Given the description of an element on the screen output the (x, y) to click on. 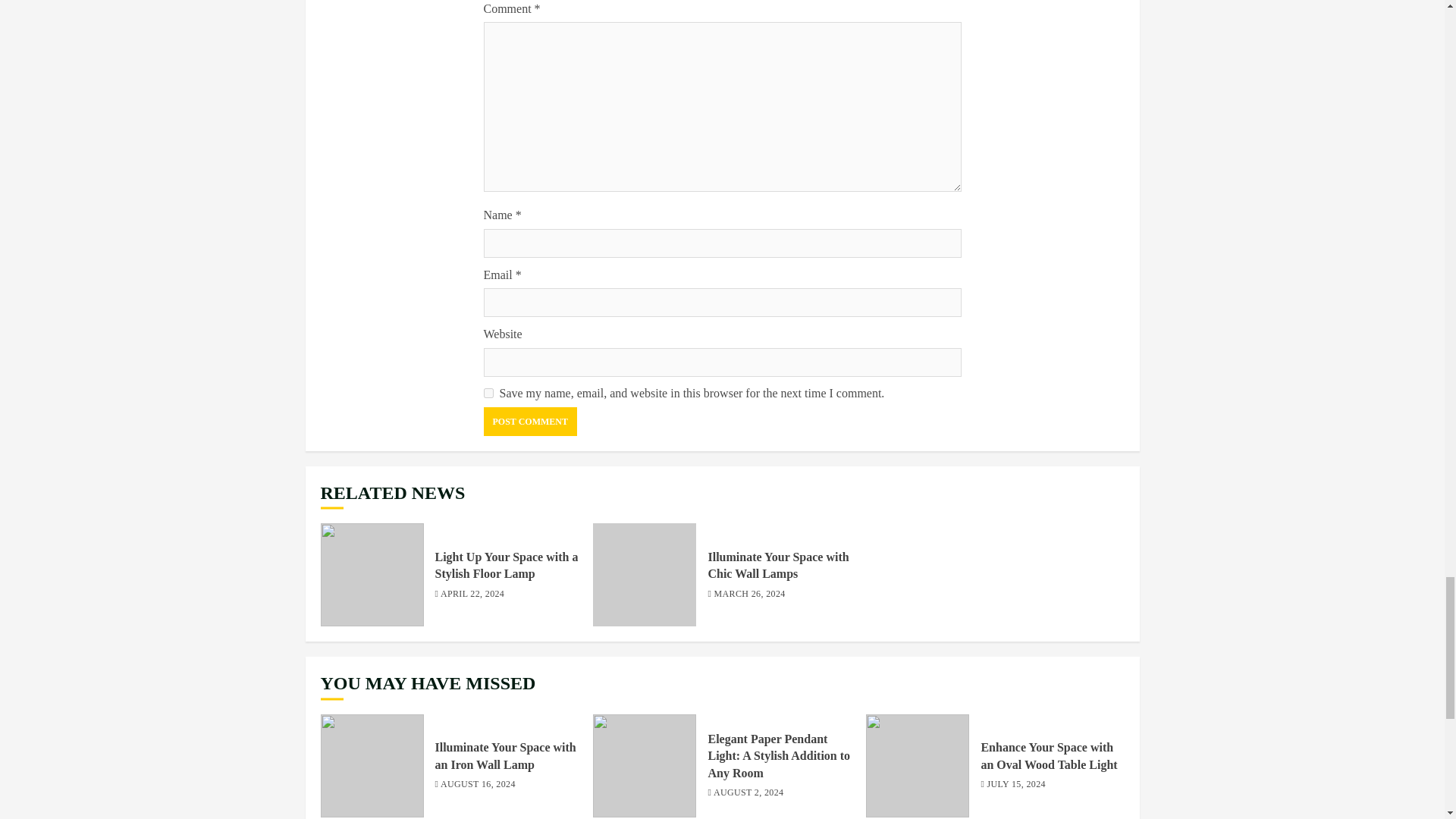
Elegant Paper Pendant Light: A Stylish Addition to Any Room (778, 756)
Enhance Your Space with an Oval Wood Table Light (1047, 756)
Illuminate Your Space with an Iron Wall Lamp (371, 765)
Post Comment (529, 421)
Elegant Paper Pendant Light: A Stylish Addition to Any Room (643, 765)
Light Up Your Space with a Stylish Floor Lamp (371, 574)
Illuminate Your Space with Chic Wall Lamps (777, 565)
Illuminate Your Space with an Iron Wall Lamp (505, 756)
Enhance Your Space with an Oval Wood Table Light (917, 765)
Post Comment (529, 421)
